Given the description of an element on the screen output the (x, y) to click on. 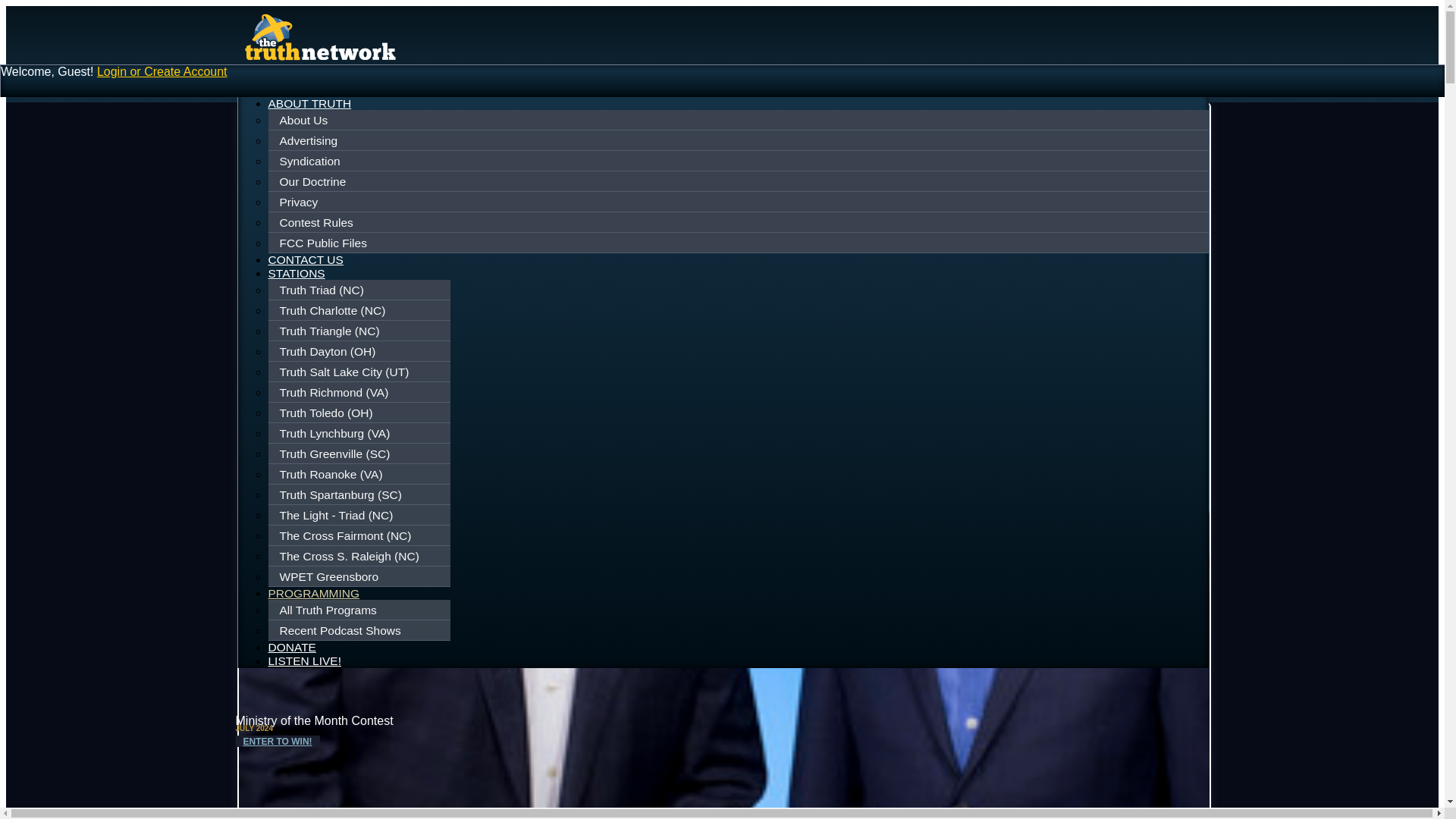
HOME (285, 89)
WPET Greensboro (360, 576)
CONTACT US (305, 259)
Contest Rules (739, 222)
About Us (739, 120)
PROGRAMMING (313, 594)
Advertising (739, 140)
ABOUT TRUTH (309, 103)
FCC Public Files (739, 243)
Privacy (739, 202)
Our Doctrine (739, 181)
Syndication (739, 161)
STATIONS (295, 273)
